Given the description of an element on the screen output the (x, y) to click on. 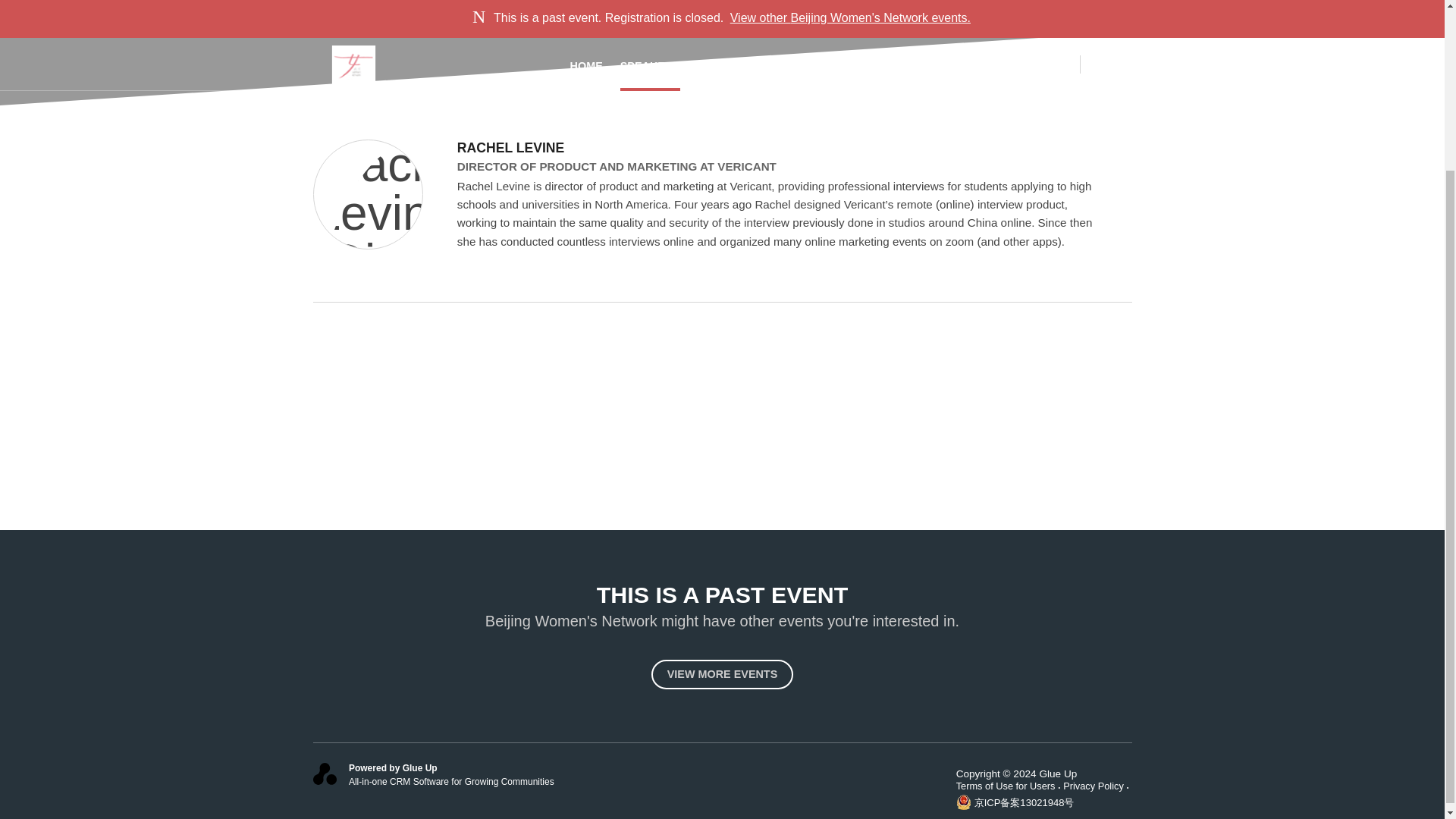
Terms of Use for Users (1010, 785)
Privacy Policy (1096, 785)
VIEW MORE EVENTS (721, 674)
